Given the description of an element on the screen output the (x, y) to click on. 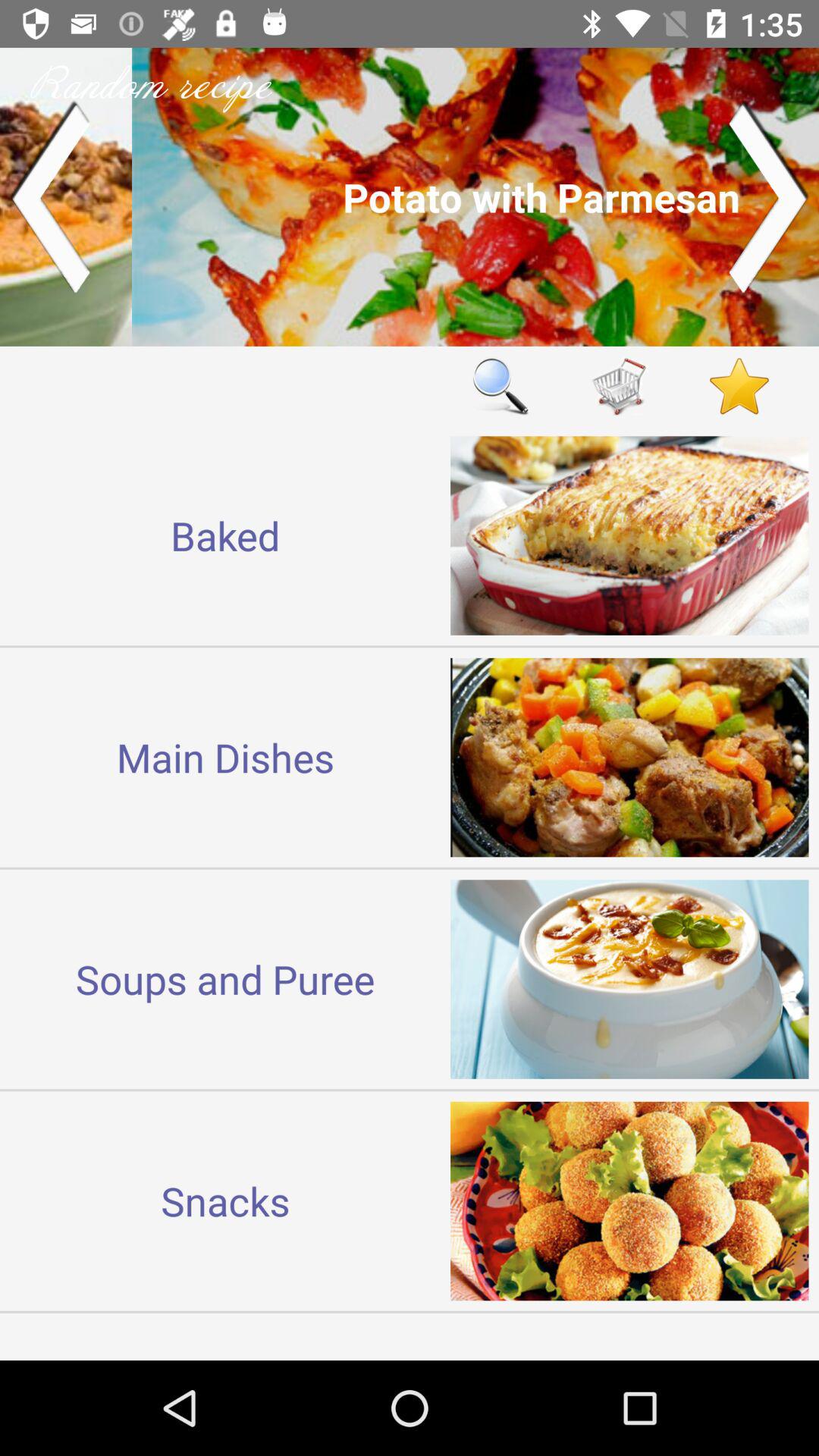
go to previous photo (49, 196)
